Given the description of an element on the screen output the (x, y) to click on. 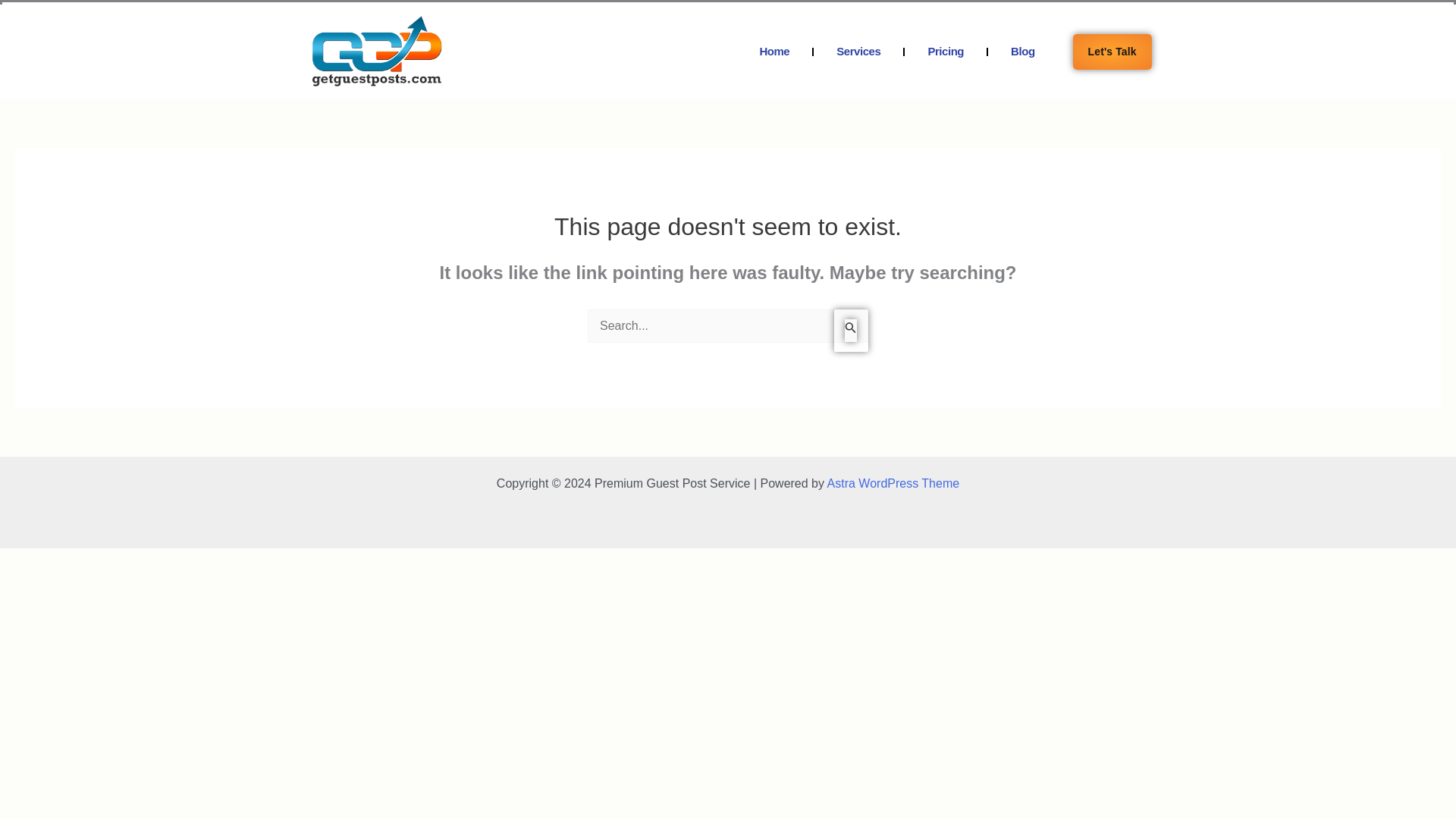
Services (1068, 32)
getguestpostscom (375, 51)
Astra WordPress Theme (893, 482)
Home (773, 51)
Blog (1229, 32)
Pricing (1153, 32)
Home (985, 32)
CONTACT US (1328, 32)
Services (858, 51)
Pricing (945, 51)
